Given the description of an element on the screen output the (x, y) to click on. 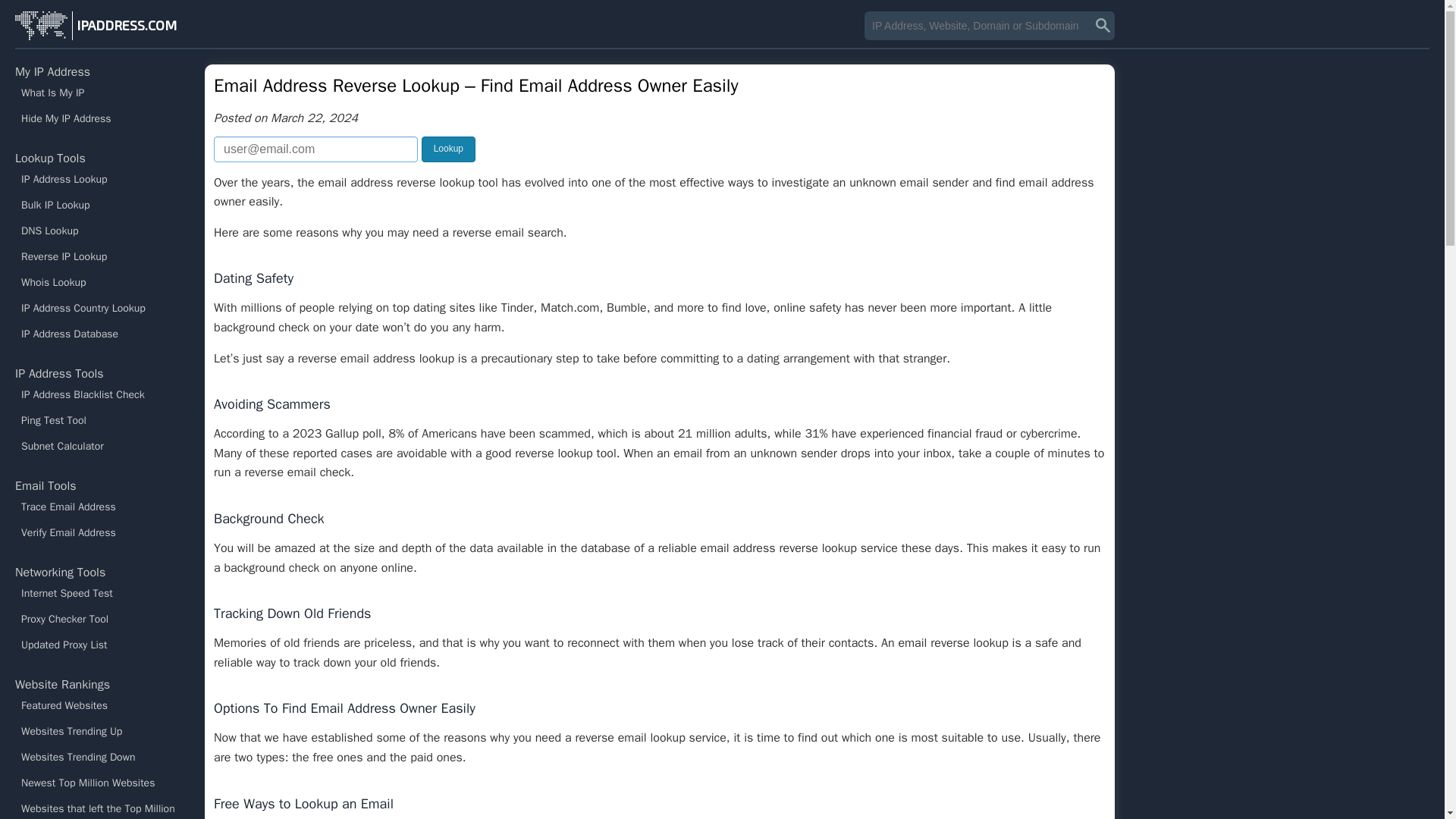
IP Address Country Lookup (101, 308)
IP Address Lookup (101, 179)
What Is My IP (101, 93)
Hide My IP Address (101, 118)
IP Address Database (101, 334)
Whois Lookup (101, 282)
Lookup Tools (49, 158)
Reverse IP Lookup (101, 257)
Lookup (449, 149)
DNS Lookup (101, 231)
Bulk IP Lookup (101, 205)
IPADDRESS.COM (97, 25)
